Given the description of an element on the screen output the (x, y) to click on. 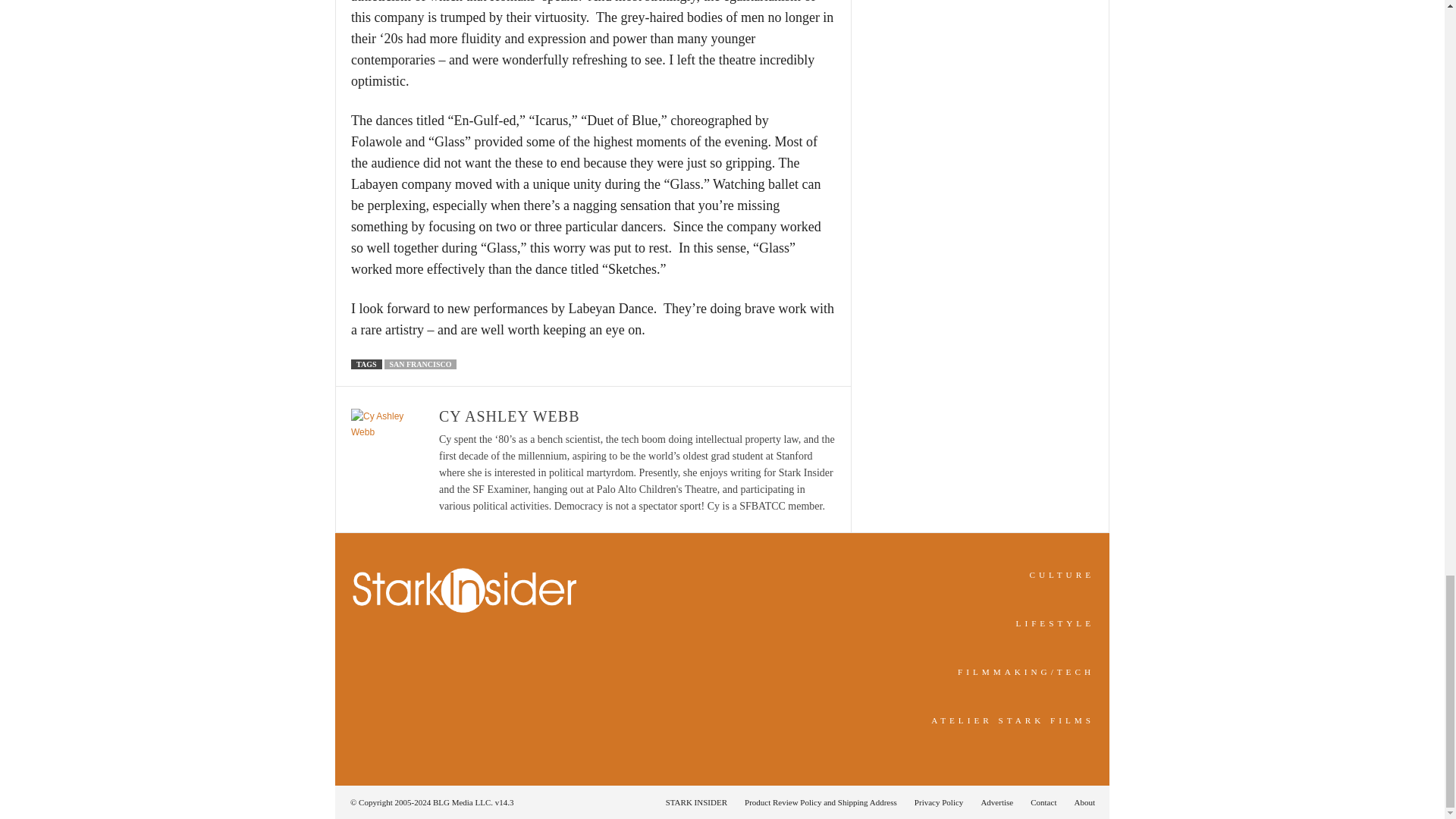
About (1079, 801)
Advertise (996, 801)
LIFESTYLE (1055, 623)
STARK INSIDER (696, 801)
Product Review Policy and Shipping Address (820, 801)
CULTURE (1061, 574)
Contact (1043, 801)
SAN FRANCISCO (420, 364)
ATELIER STARK FILMS (1012, 719)
CY ASHLEY WEBB (509, 416)
